Given the description of an element on the screen output the (x, y) to click on. 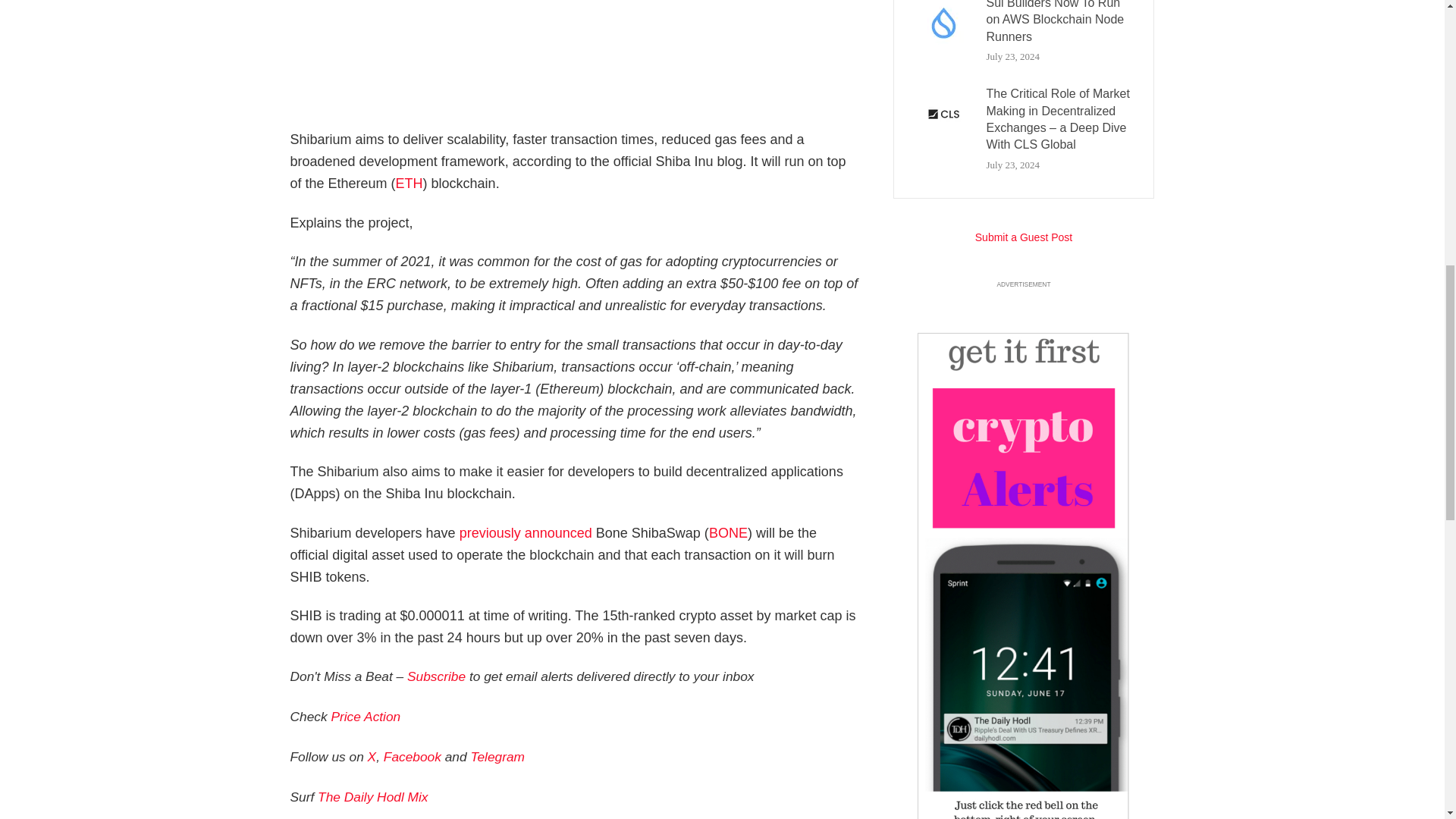
Advertisement (581, 58)
